Given the description of an element on the screen output the (x, y) to click on. 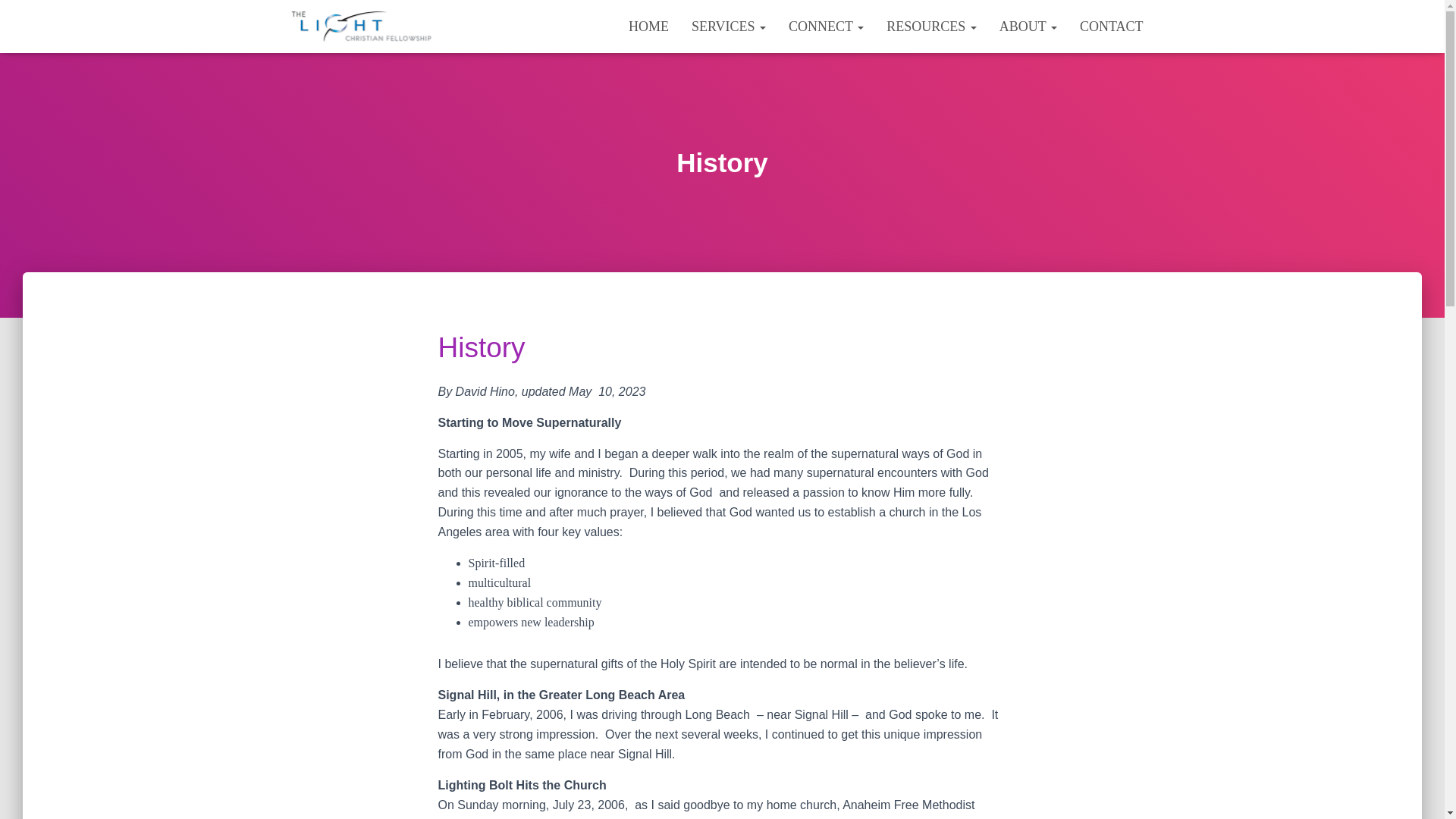
CONNECT (826, 26)
ABOUT (1028, 26)
RESOURCES (931, 26)
SERVICES (728, 26)
HOME (648, 26)
Home (648, 26)
Services (728, 26)
Connect (826, 26)
